Given the description of an element on the screen output the (x, y) to click on. 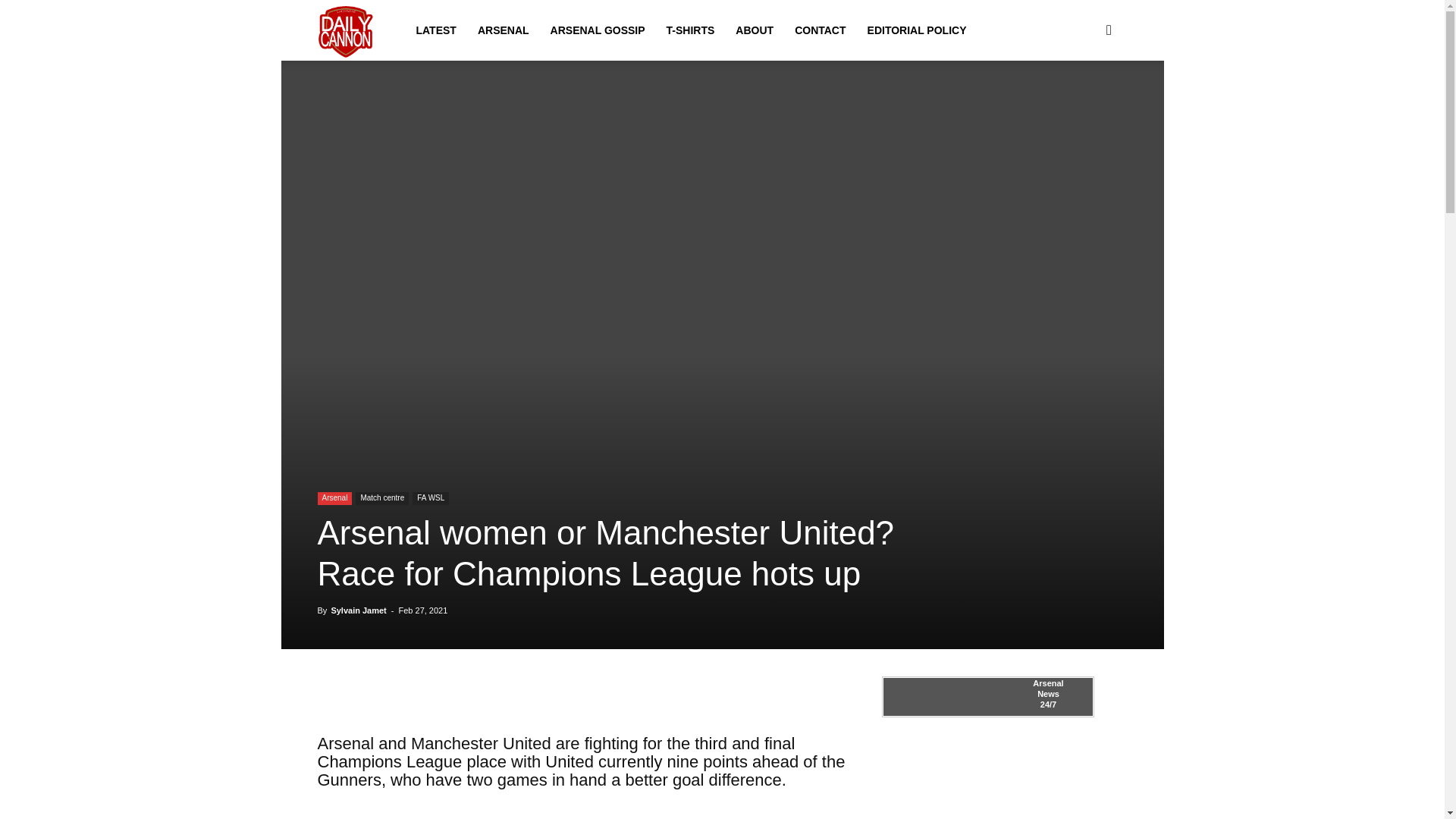
Search (1085, 102)
